Given the description of an element on the screen output the (x, y) to click on. 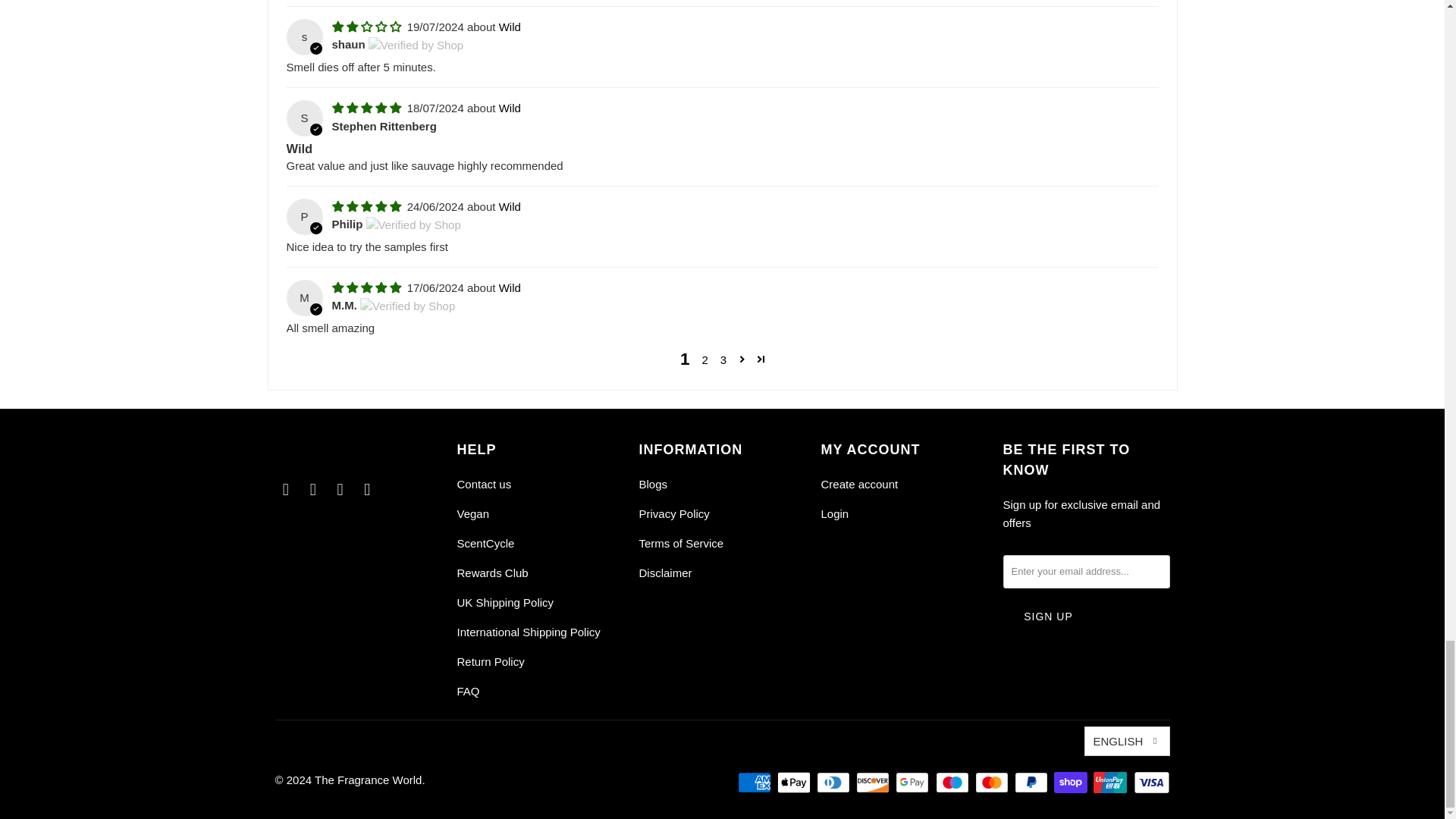
Shop Pay (1072, 782)
Discover (874, 782)
Apple Pay (795, 782)
Union Pay (1111, 782)
Maestro (954, 782)
Sign Up (1048, 616)
The Fragrance World on Facebook (286, 489)
PayPal (1032, 782)
The Fragrance World on LinkedIn (340, 489)
Google Pay (913, 782)
Diners Club (834, 782)
American Express (756, 782)
Mastercard (993, 782)
Visa (1150, 782)
Email The Fragrance World (367, 489)
